Given the description of an element on the screen output the (x, y) to click on. 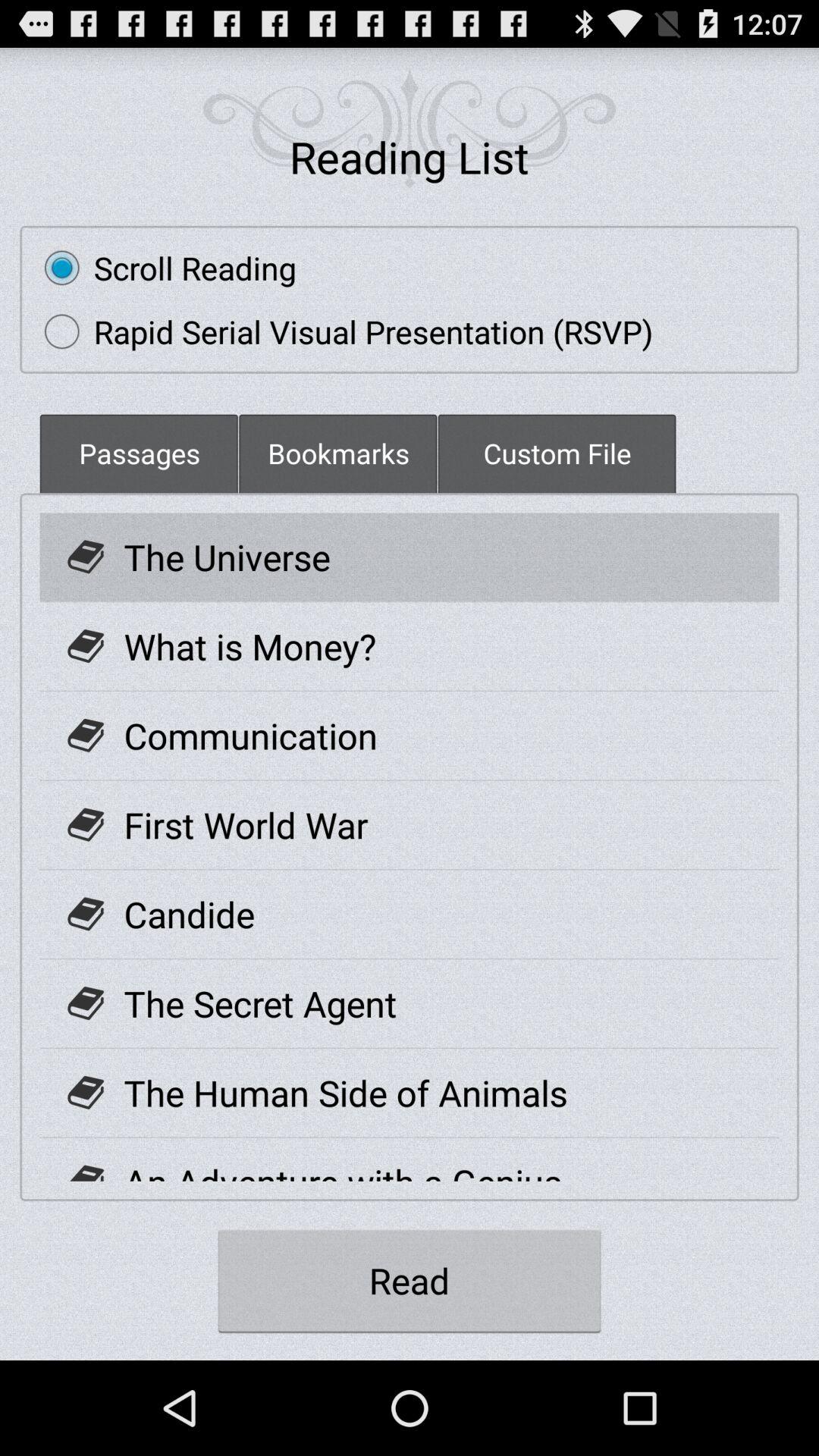
turn off the radio button above the rapid serial visual item (163, 267)
